Given the description of an element on the screen output the (x, y) to click on. 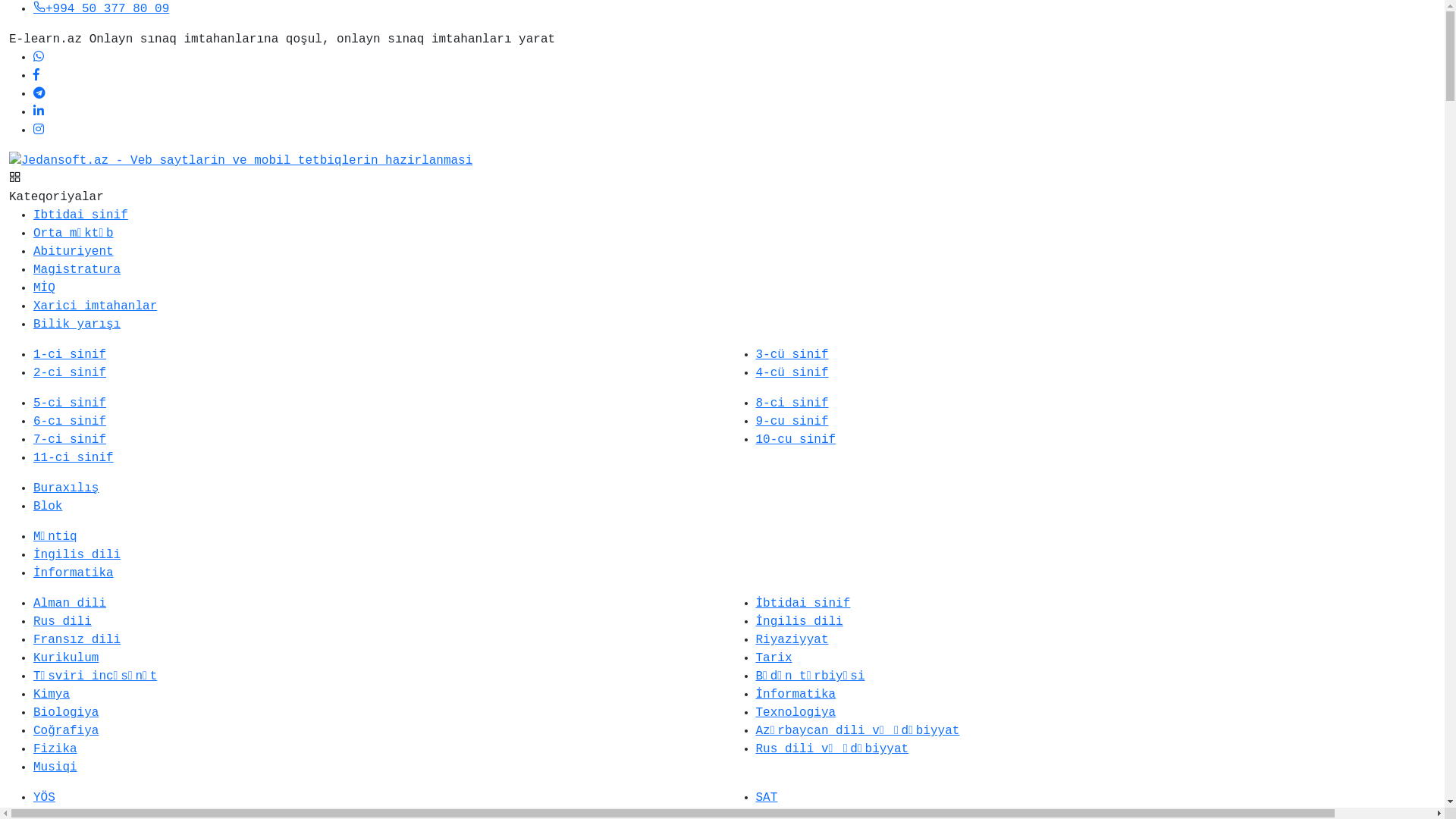
7-ci sinif Element type: text (69, 439)
Kurikulum Element type: text (65, 658)
9-cu sinif Element type: text (791, 421)
Rus dili Element type: text (62, 621)
Riyaziyyat Element type: text (791, 639)
Tarix Element type: text (773, 658)
Texnologiya Element type: text (795, 712)
Blok Element type: text (47, 506)
5-ci sinif Element type: text (69, 403)
8-ci sinif Element type: text (791, 403)
11-ci sinif Element type: text (73, 457)
1-ci sinif Element type: text (69, 354)
+994 50 377 80 09 Element type: text (101, 8)
Ibtidai sinif Element type: text (80, 215)
Kimya Element type: text (51, 694)
10-cu sinif Element type: text (795, 439)
2-ci sinif Element type: text (69, 372)
Abituriyent Element type: text (73, 251)
Magistratura Element type: text (76, 269)
Fizika Element type: text (55, 749)
Alman dili Element type: text (69, 603)
SAT Element type: text (766, 797)
Biologiya Element type: text (65, 712)
Xarici imtahanlar Element type: text (94, 306)
Musiqi Element type: text (55, 767)
